Given the description of an element on the screen output the (x, y) to click on. 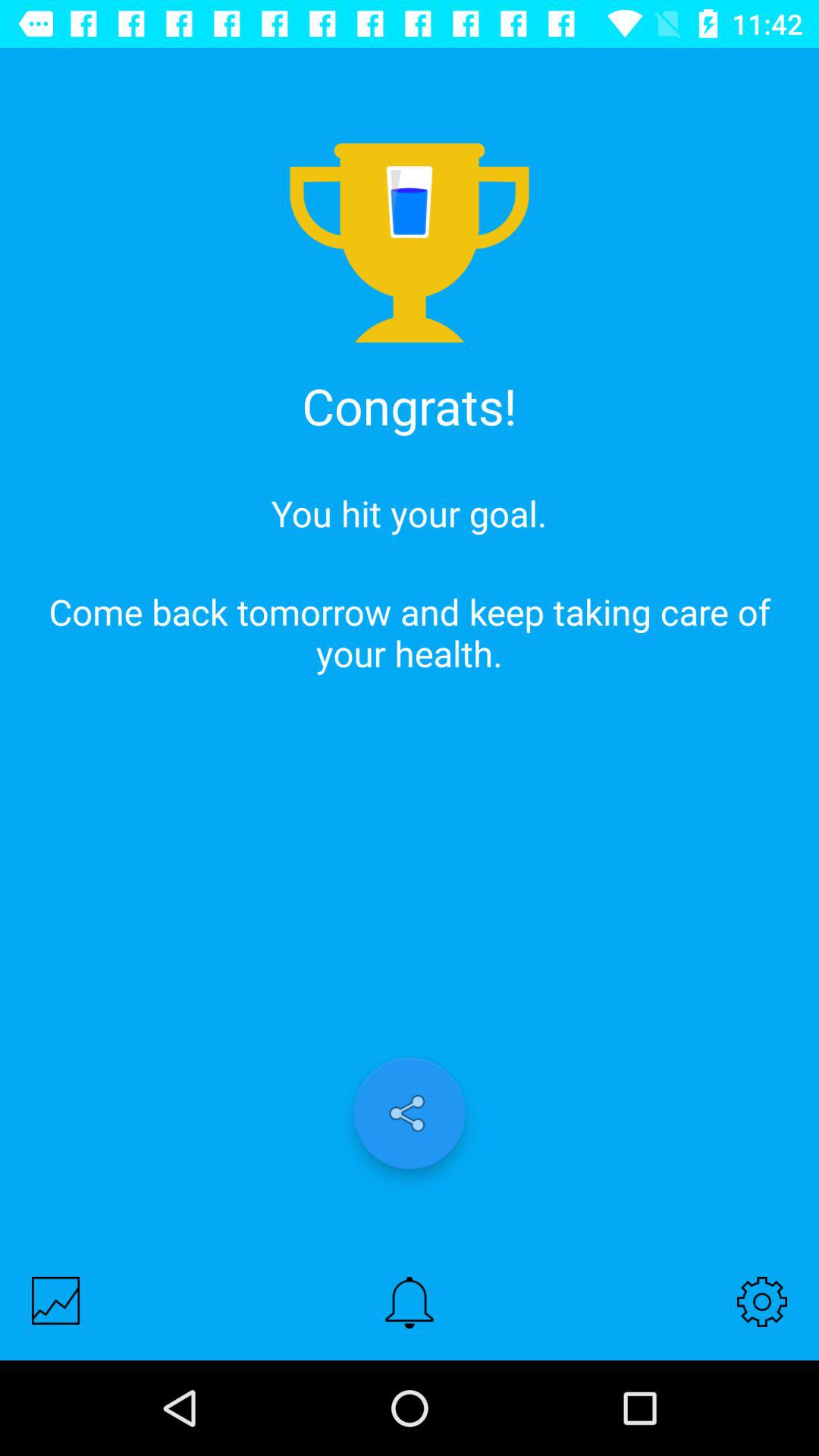
share your achievement (409, 1113)
